Given the description of an element on the screen output the (x, y) to click on. 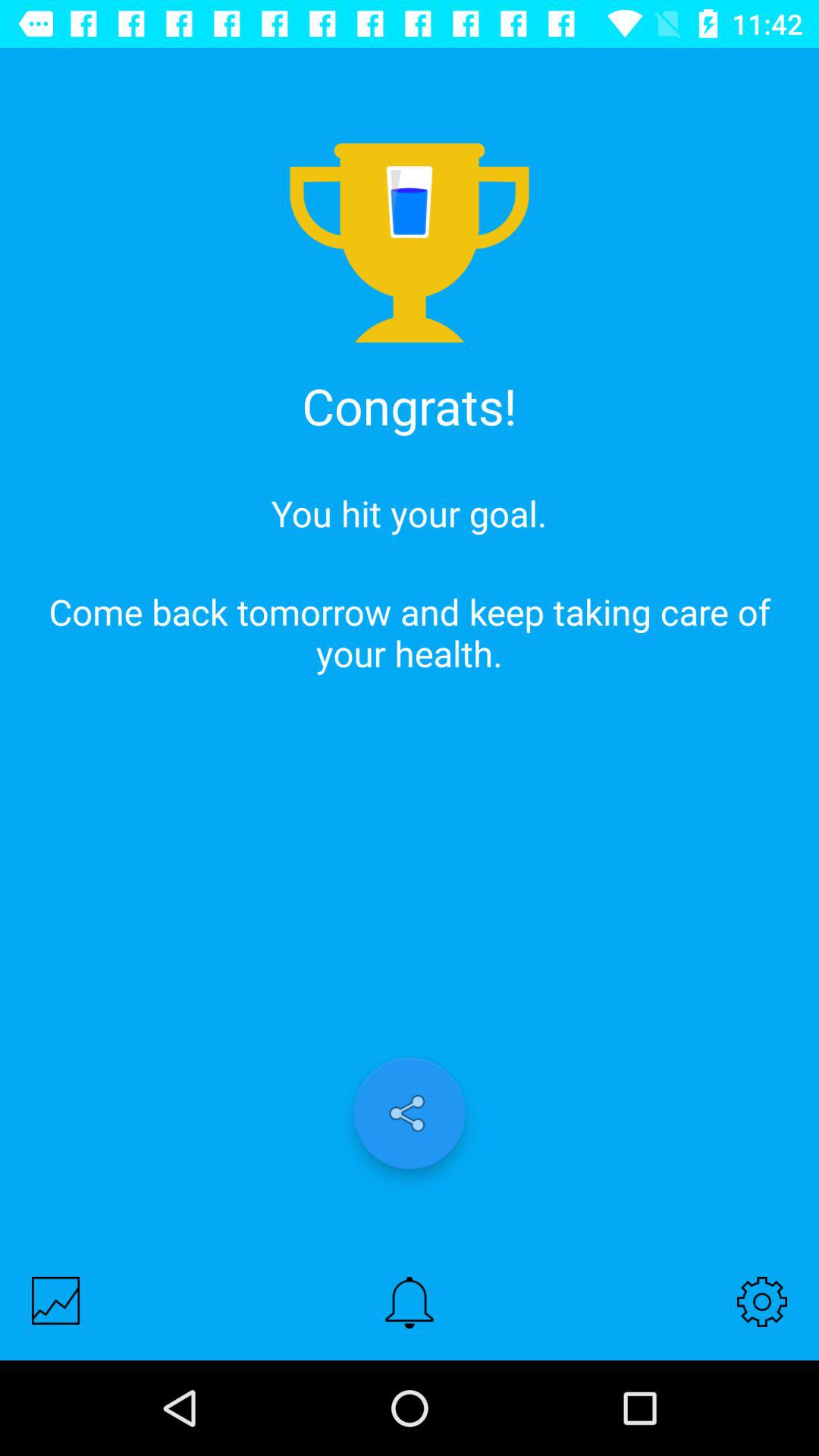
share your achievement (409, 1113)
